Given the description of an element on the screen output the (x, y) to click on. 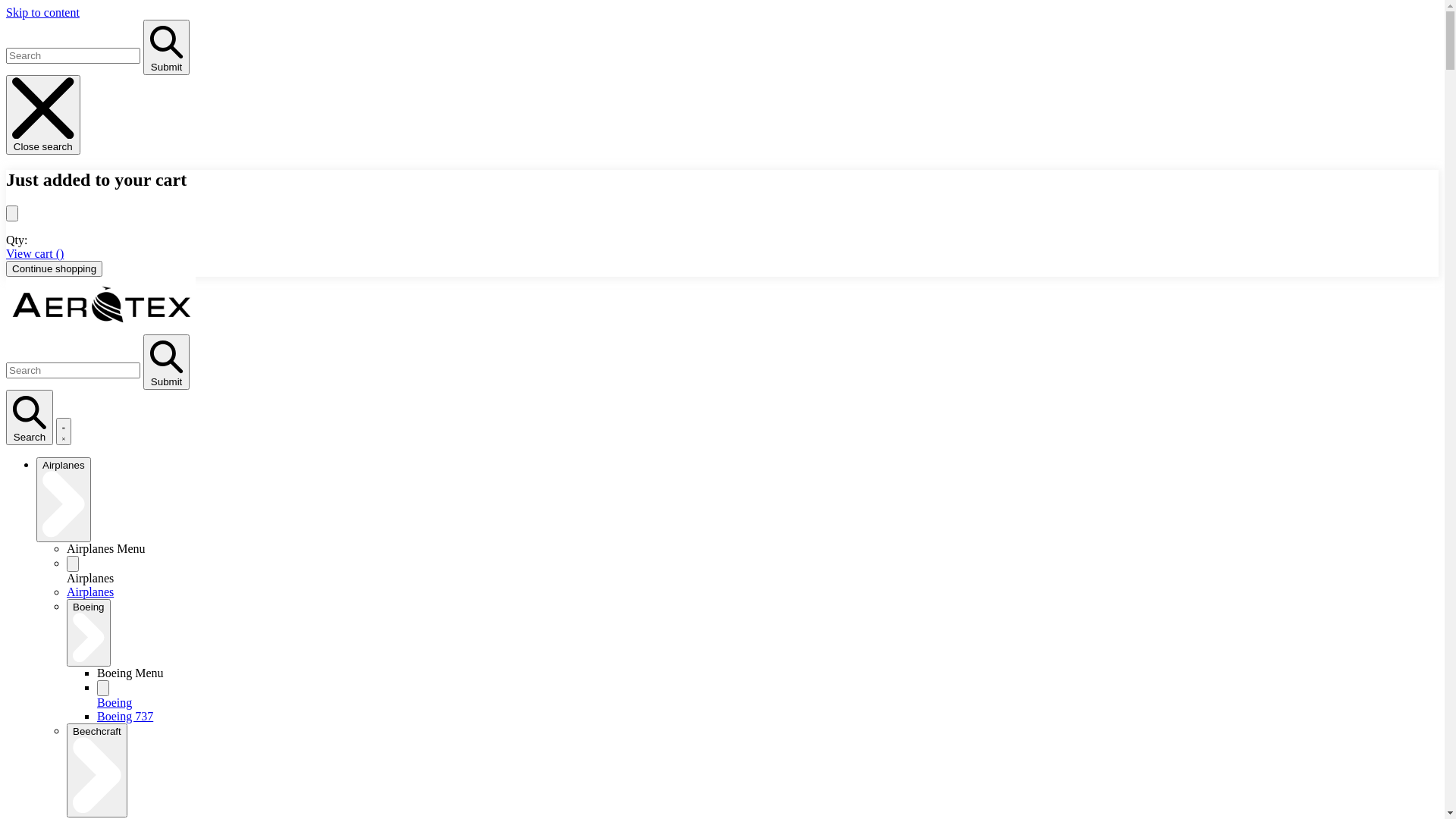
Submit Element type: text (166, 361)
Boeing 737 Element type: text (125, 715)
Search Element type: text (29, 417)
Beechcraft Element type: text (96, 770)
Close search Element type: text (43, 115)
Airplanes Element type: text (63, 499)
Boeing Element type: text (88, 632)
Continue shopping Element type: text (54, 268)
View cart () Element type: text (34, 253)
Submit Element type: text (166, 47)
Boeing Element type: text (114, 702)
Skip to content Element type: text (42, 12)
Airplanes Element type: text (89, 591)
